Given the description of an element on the screen output the (x, y) to click on. 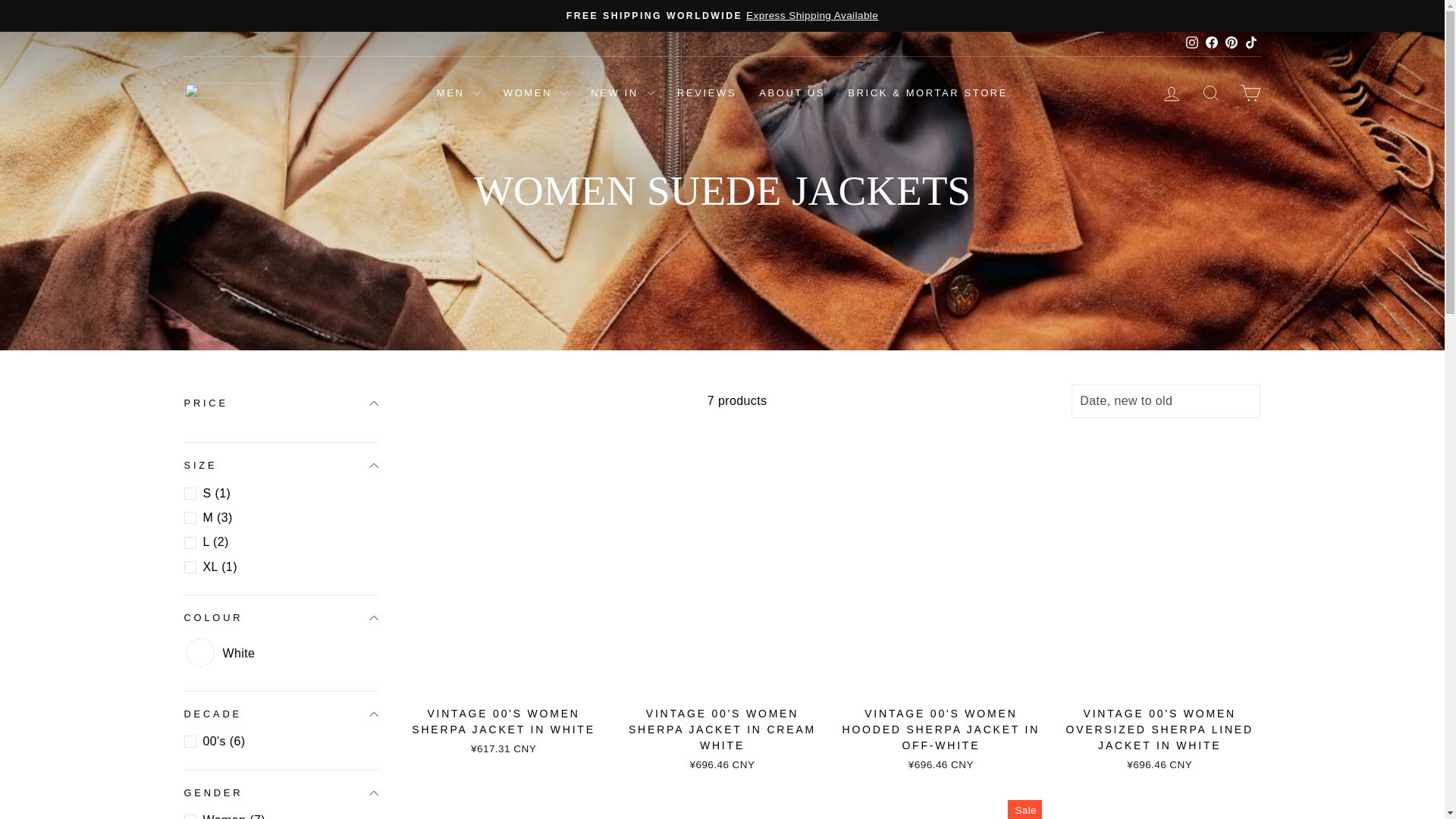
instagram (1192, 42)
ACCOUNT (1170, 93)
FREE SHIPPING WORLDWIDEExpress Shipping Available (722, 15)
White (199, 652)
ICON-SEARCH (1210, 93)
